Given the description of an element on the screen output the (x, y) to click on. 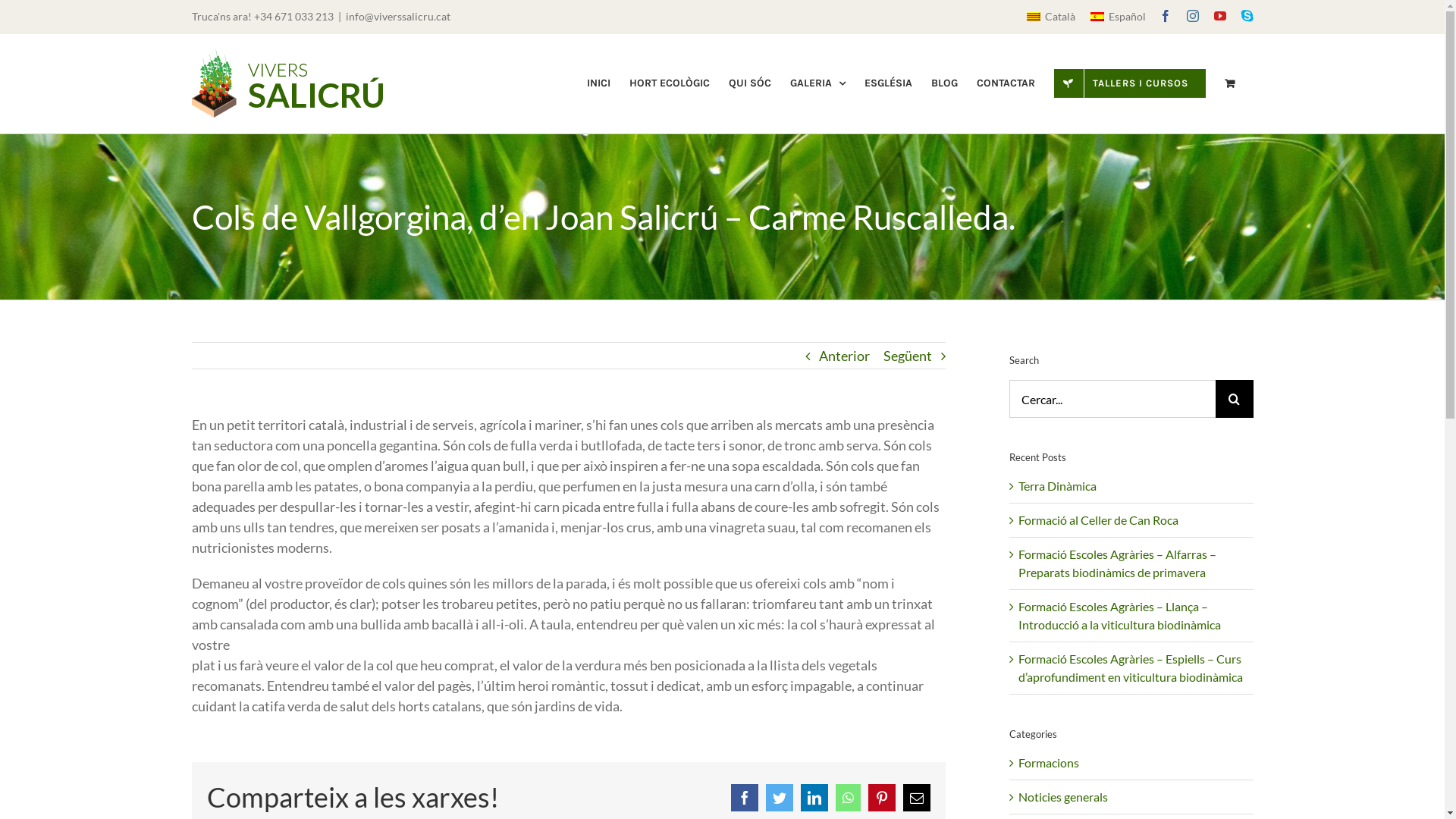
WhatsApp Element type: text (847, 797)
Instagram Element type: text (1192, 15)
Noticies generals Element type: text (1131, 796)
YouTube Element type: text (1219, 15)
GALERIA Element type: text (817, 82)
Formacions Element type: text (1131, 762)
Facebook Element type: text (1164, 15)
Pinterest Element type: text (880, 797)
LinkedIn Element type: text (814, 797)
TALLERS I CURSOS Element type: text (1129, 82)
Anterior Element type: text (844, 355)
Facebook Element type: text (744, 797)
info@viverssalicru.cat Element type: text (397, 15)
Skype Element type: text (1246, 15)
BLOG Element type: text (944, 82)
Email: Element type: text (915, 797)
INICI Element type: text (598, 82)
Twitter Element type: text (779, 797)
CONTACTAR Element type: text (1005, 82)
